Given the description of an element on the screen output the (x, y) to click on. 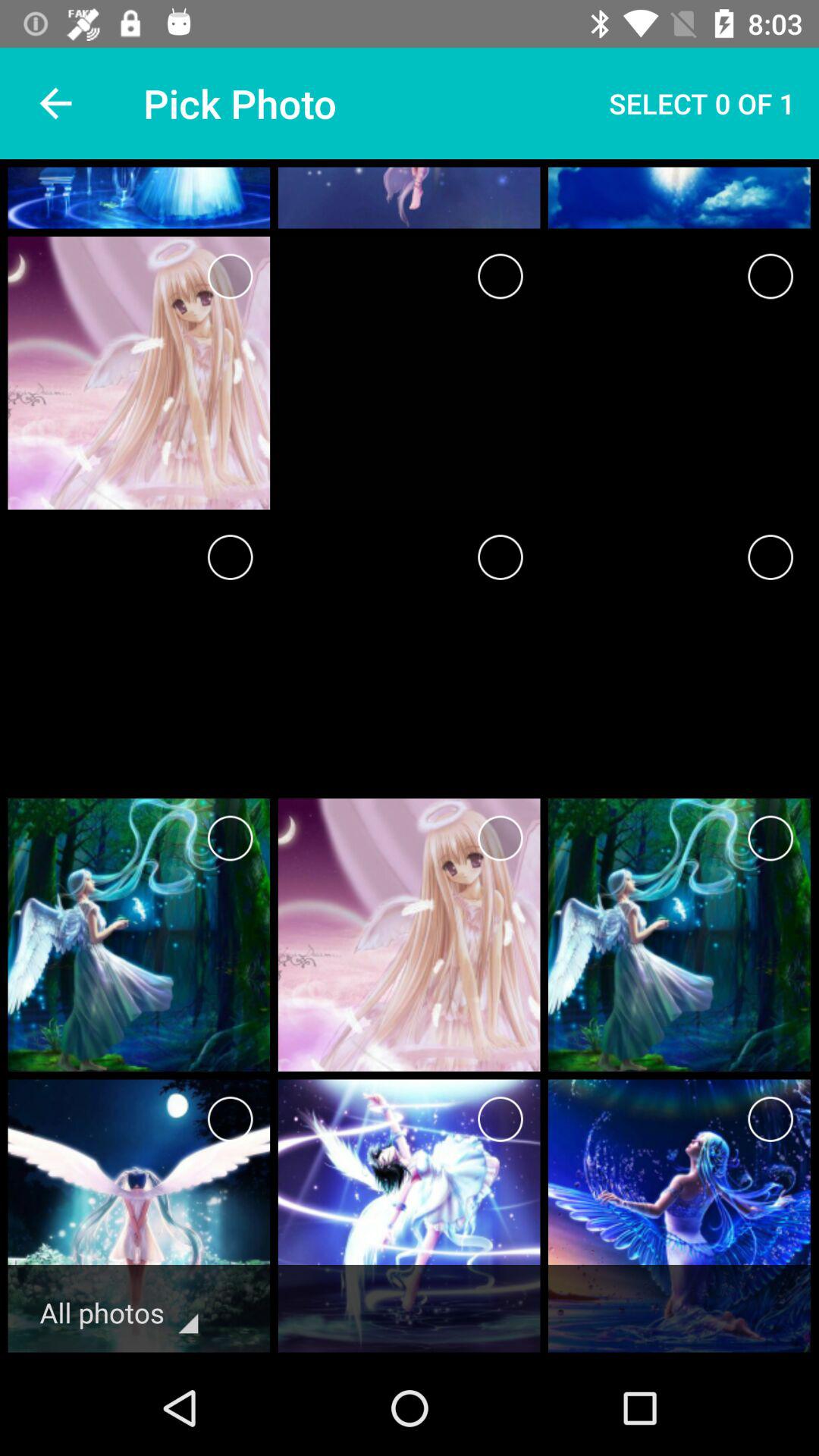
edit photo page (770, 838)
